Given the description of an element on the screen output the (x, y) to click on. 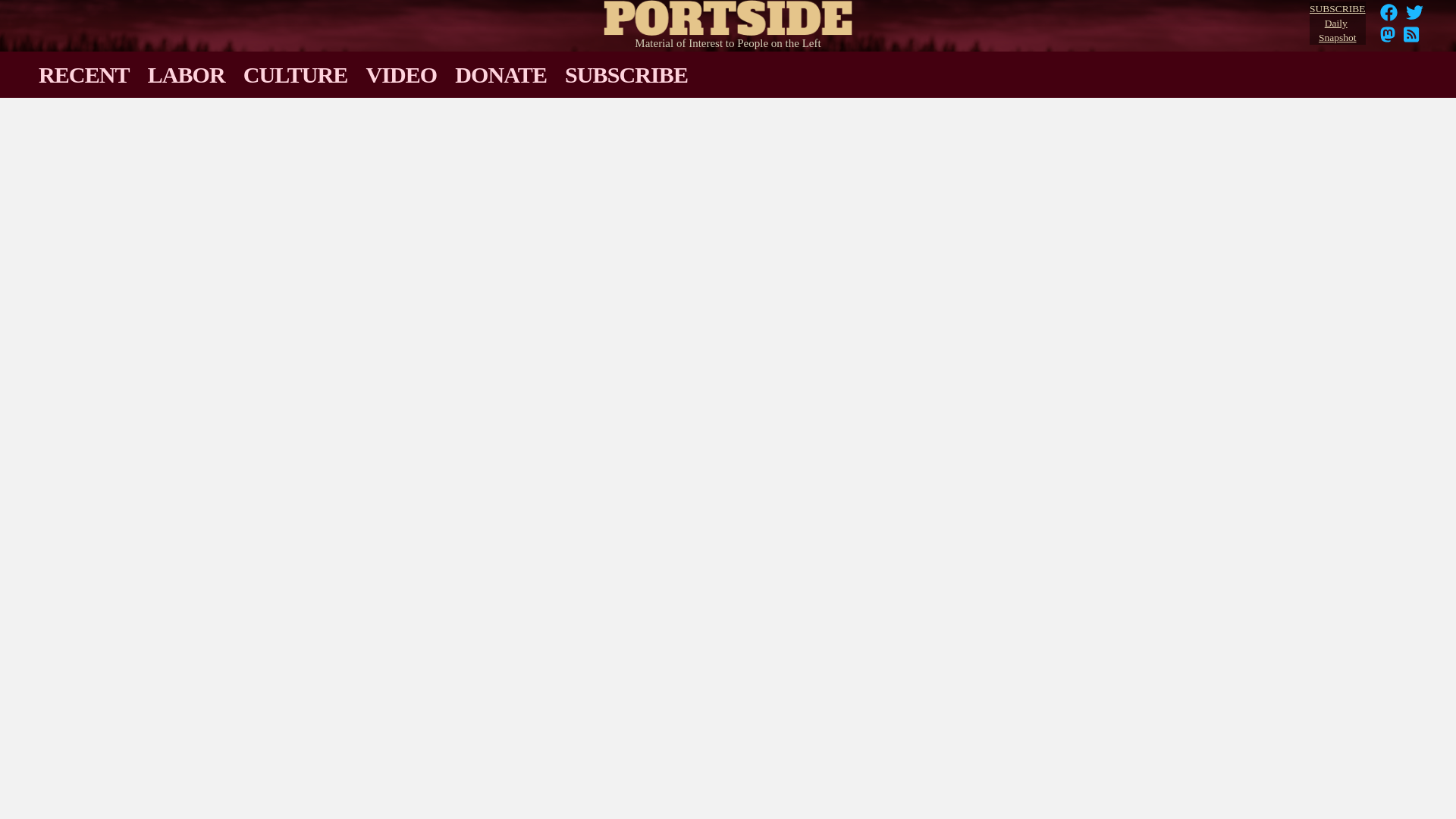
Facebook (1388, 11)
Follow Portside on Mastodon (1387, 39)
Follow Portside on Facebook (1388, 16)
Follow Portside's RSS feed (1336, 23)
Skip to main content (1411, 39)
Home (1387, 39)
RSS (727, 14)
Follow Portside on Twitter (1411, 39)
